Given the description of an element on the screen output the (x, y) to click on. 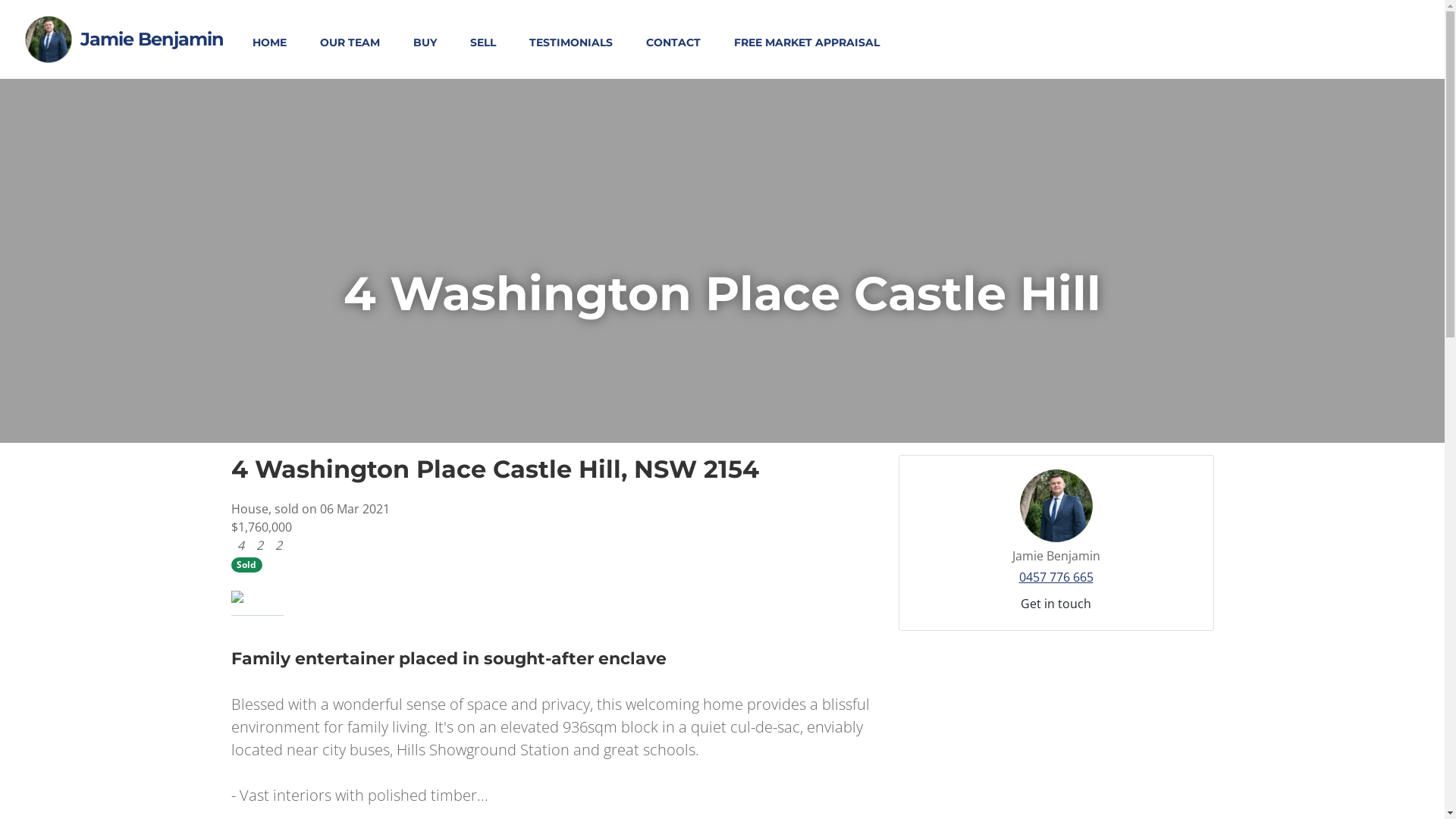
Next Element type: text (830, 596)
BUY Element type: text (424, 42)
Previous Element type: text (278, 596)
Get in touch Element type: text (1055, 603)
OUR TEAM Element type: text (349, 42)
0457 776 665 Element type: text (1056, 576)
Jamie Benjamin Element type: text (147, 38)
SELL Element type: text (482, 42)
FREE MARKET APPRAISAL Element type: text (806, 42)
TESTIMONIALS Element type: text (570, 42)
HOME Element type: text (269, 42)
CONTACT Element type: text (673, 42)
